Given the description of an element on the screen output the (x, y) to click on. 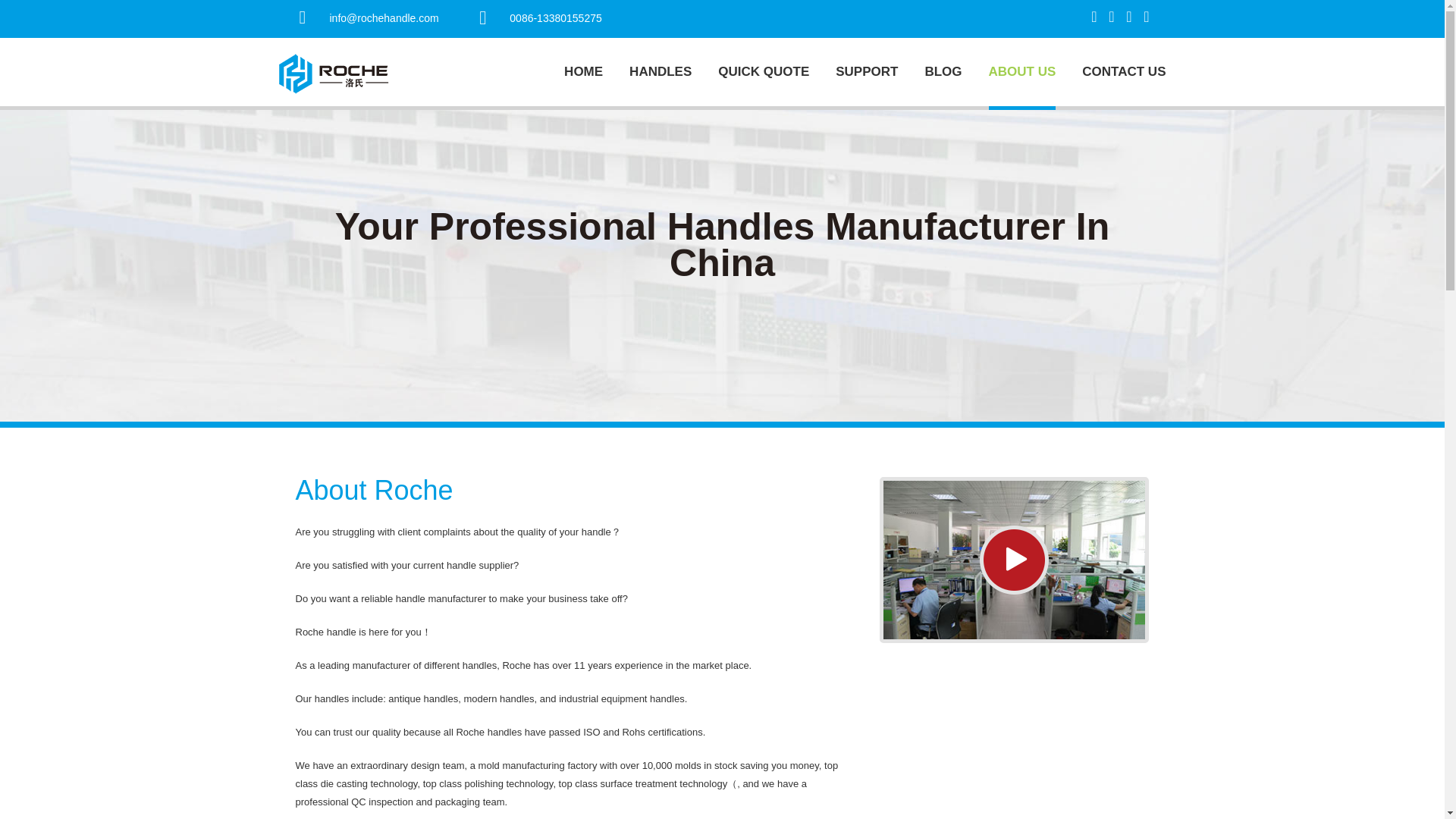
CONTACT US (1123, 73)
0086-13380155275 (555, 18)
QUICK QUOTE (763, 73)
ABOUT US (1022, 73)
